Given the description of an element on the screen output the (x, y) to click on. 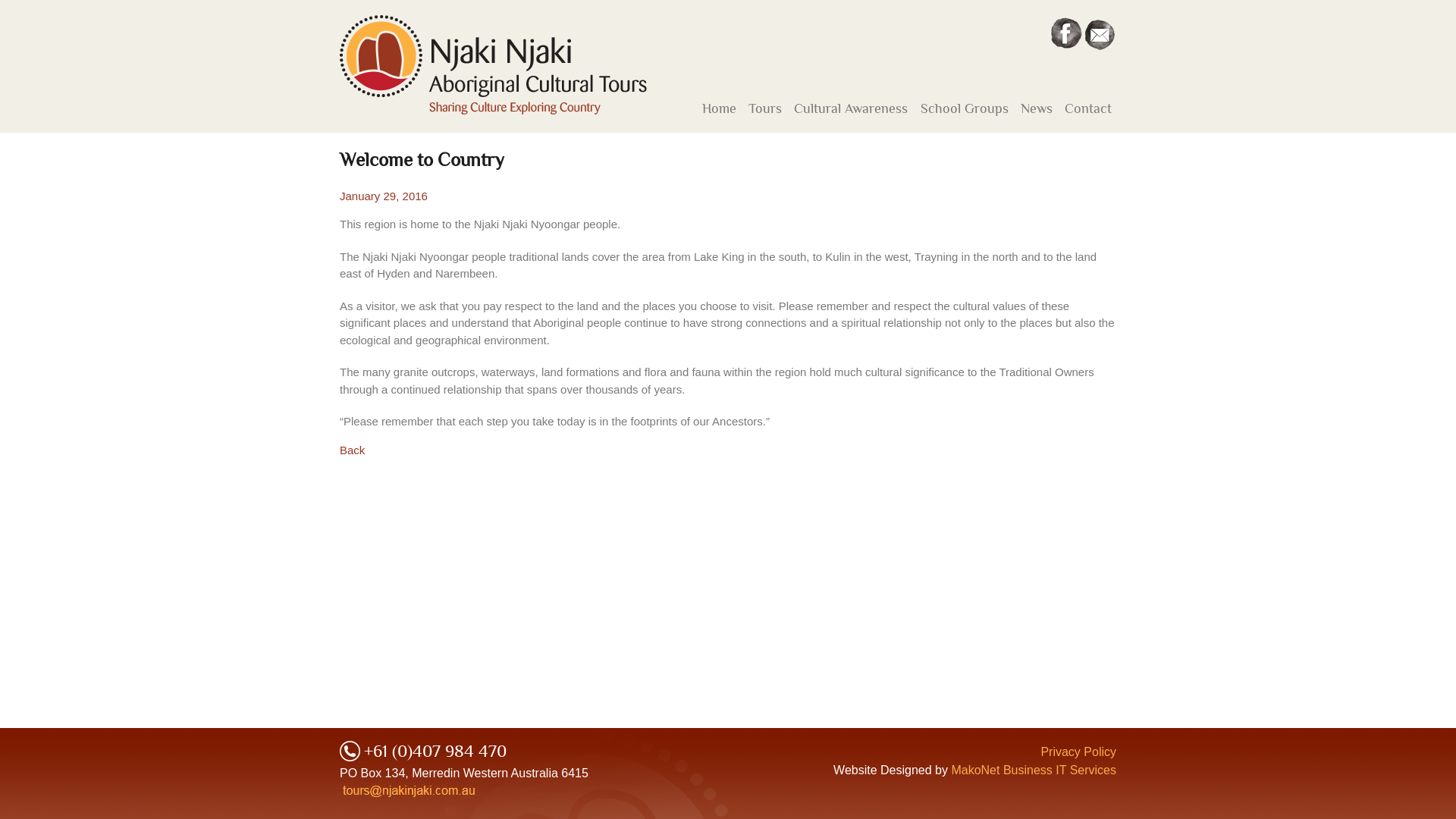
MakoNet Business IT Services Element type: text (1033, 769)
Tours Element type: text (764, 107)
Cultural Awareness Element type: text (850, 107)
Back Element type: text (351, 448)
News Element type: text (1036, 107)
Njaki Njaki Element type: text (492, 64)
School Groups Element type: text (964, 107)
Email Element type: text (1100, 33)
Home Element type: text (718, 107)
Privacy Policy Element type: text (1078, 751)
January 29, 2016 Element type: text (383, 195)
Facebook Element type: text (1066, 33)
Contact Element type: text (1088, 107)
